Given the description of an element on the screen output the (x, y) to click on. 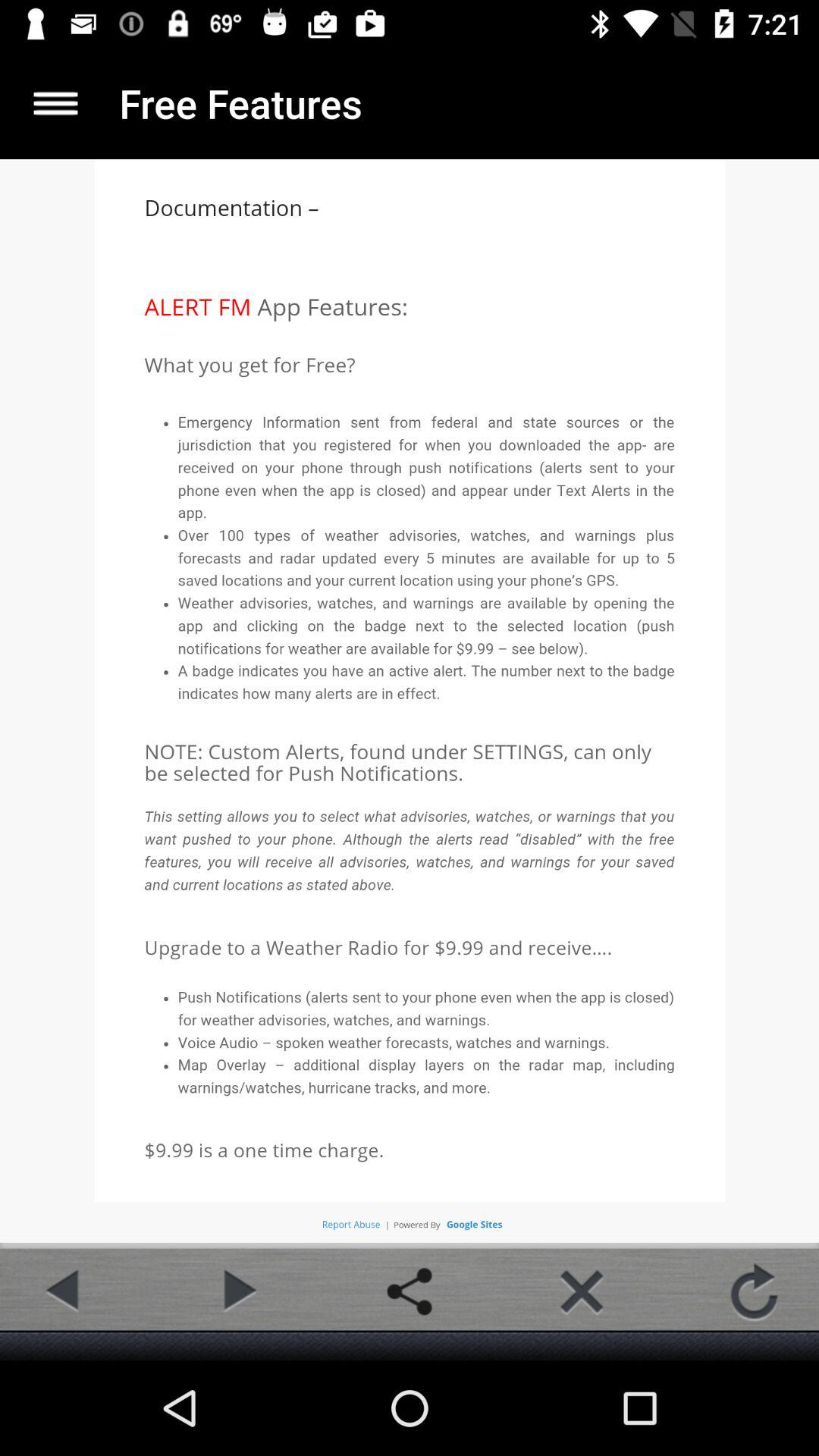
documentation (55, 103)
